Given the description of an element on the screen output the (x, y) to click on. 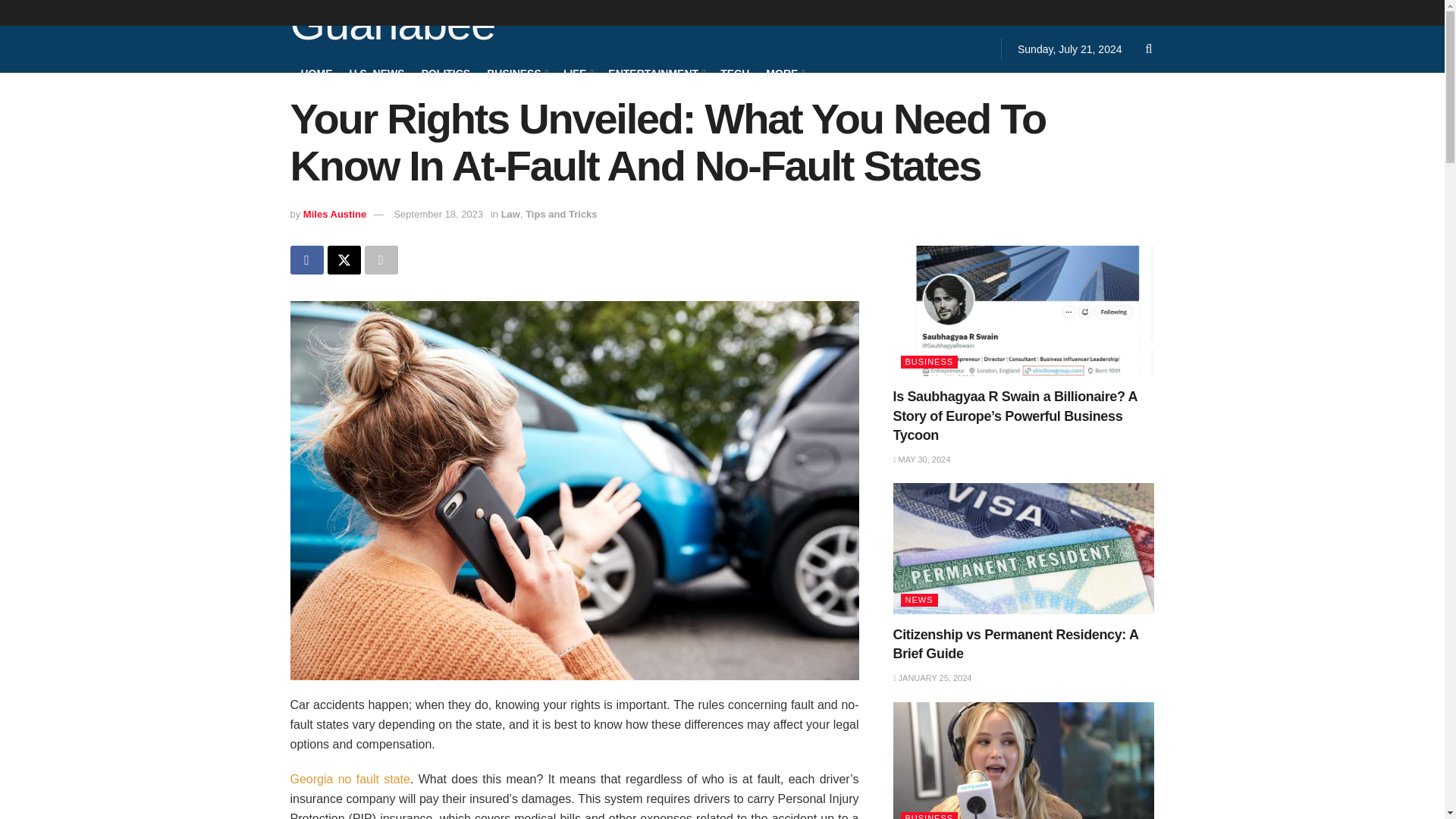
Law (509, 214)
Georgia no fault state (349, 779)
Tips and Tricks (560, 214)
September 18, 2023 (438, 214)
BUSINESS (516, 73)
Miles Austine (334, 214)
ENTERTAINMENT (655, 73)
POLITICS (446, 73)
U.S. NEWS (376, 73)
Guanabee (392, 25)
